Given the description of an element on the screen output the (x, y) to click on. 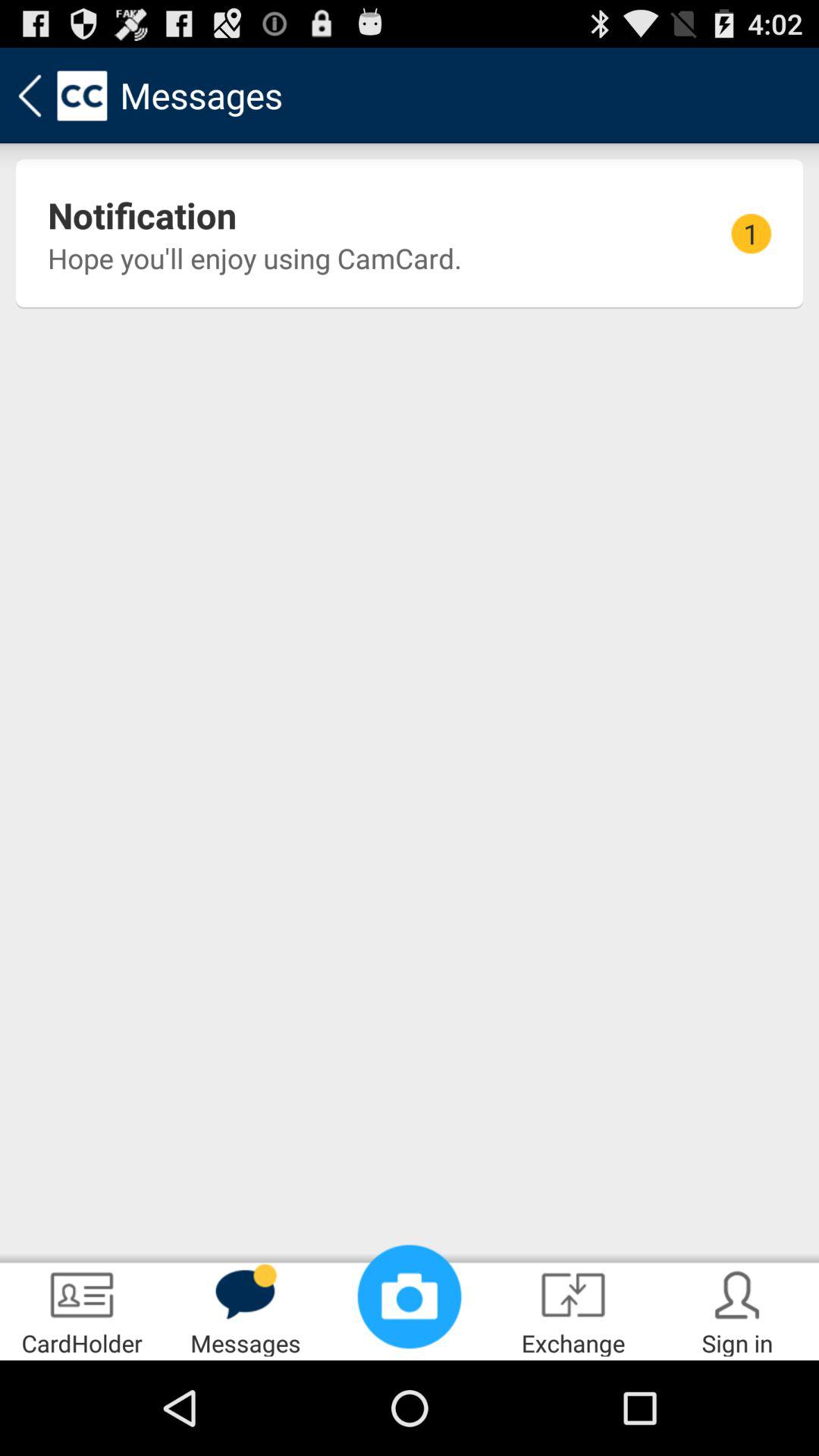
tap the item next to exchange app (737, 1309)
